Given the description of an element on the screen output the (x, y) to click on. 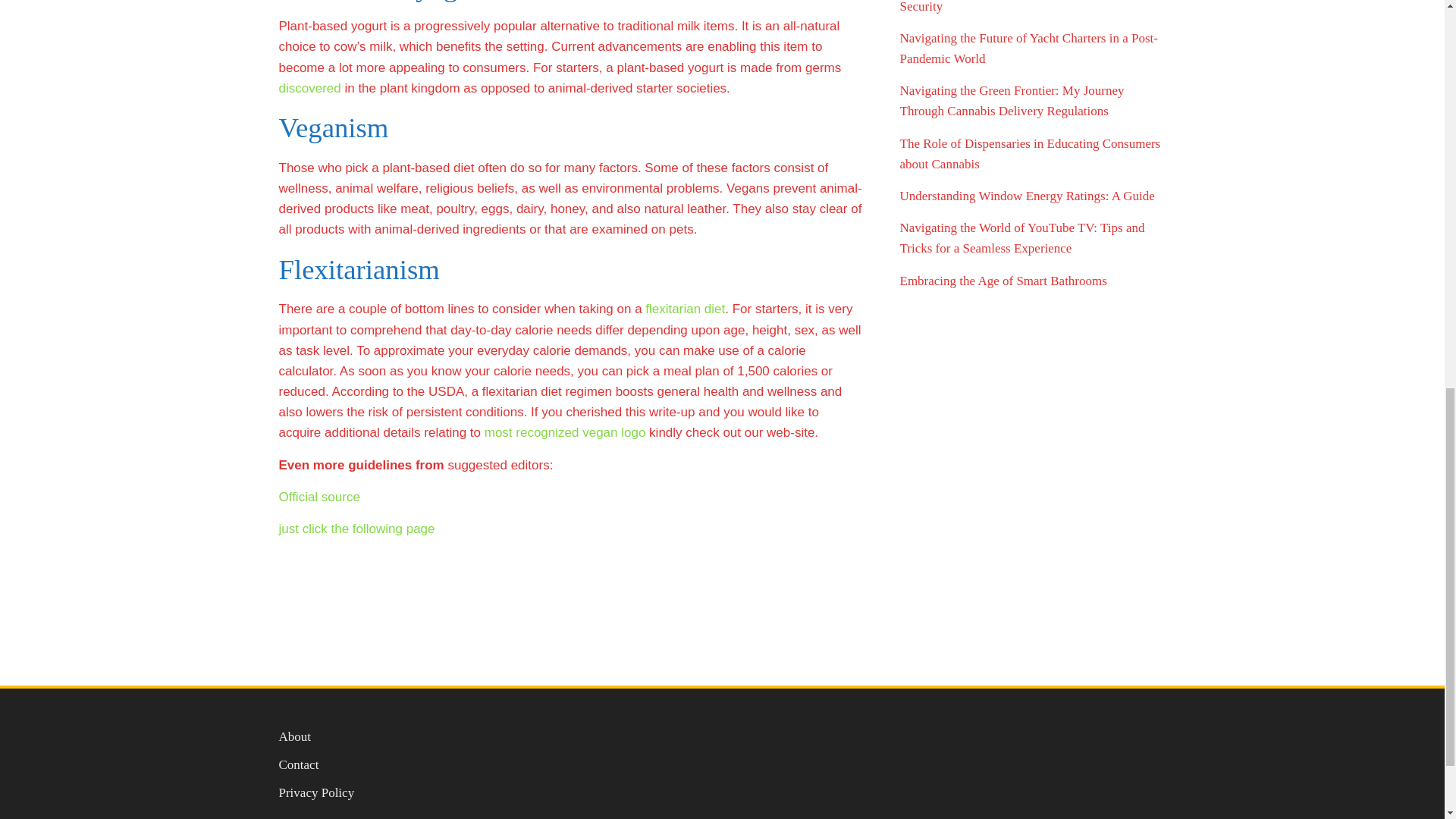
The Unsung Heroes of Online Gaming: Data Security (1015, 6)
discovered (309, 88)
Privacy Policy (317, 792)
Embracing the Age of Smart Bathrooms (1002, 280)
About (295, 736)
Official source (319, 496)
most recognized vegan logo (565, 432)
